Given the description of an element on the screen output the (x, y) to click on. 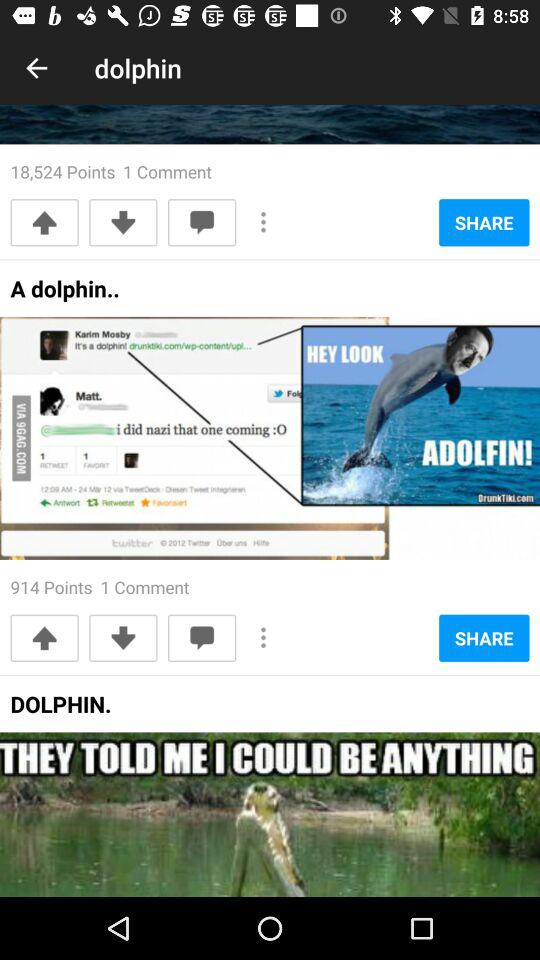
open the a dolphin.. (64, 294)
